Given the description of an element on the screen output the (x, y) to click on. 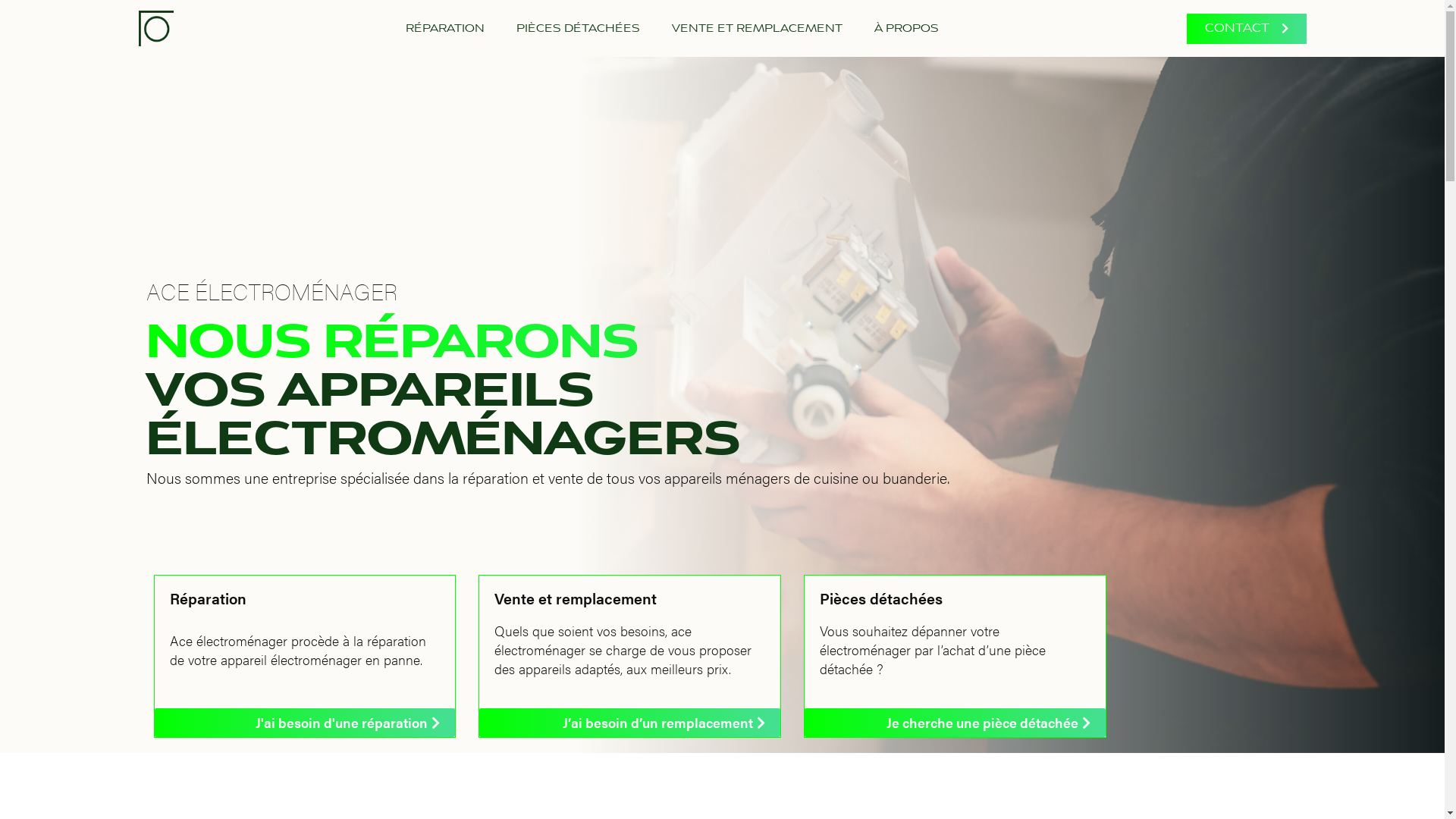
CONTACT Element type: text (1245, 28)
VENTE ET REMPLACEMENT Element type: text (756, 27)
